Given the description of an element on the screen output the (x, y) to click on. 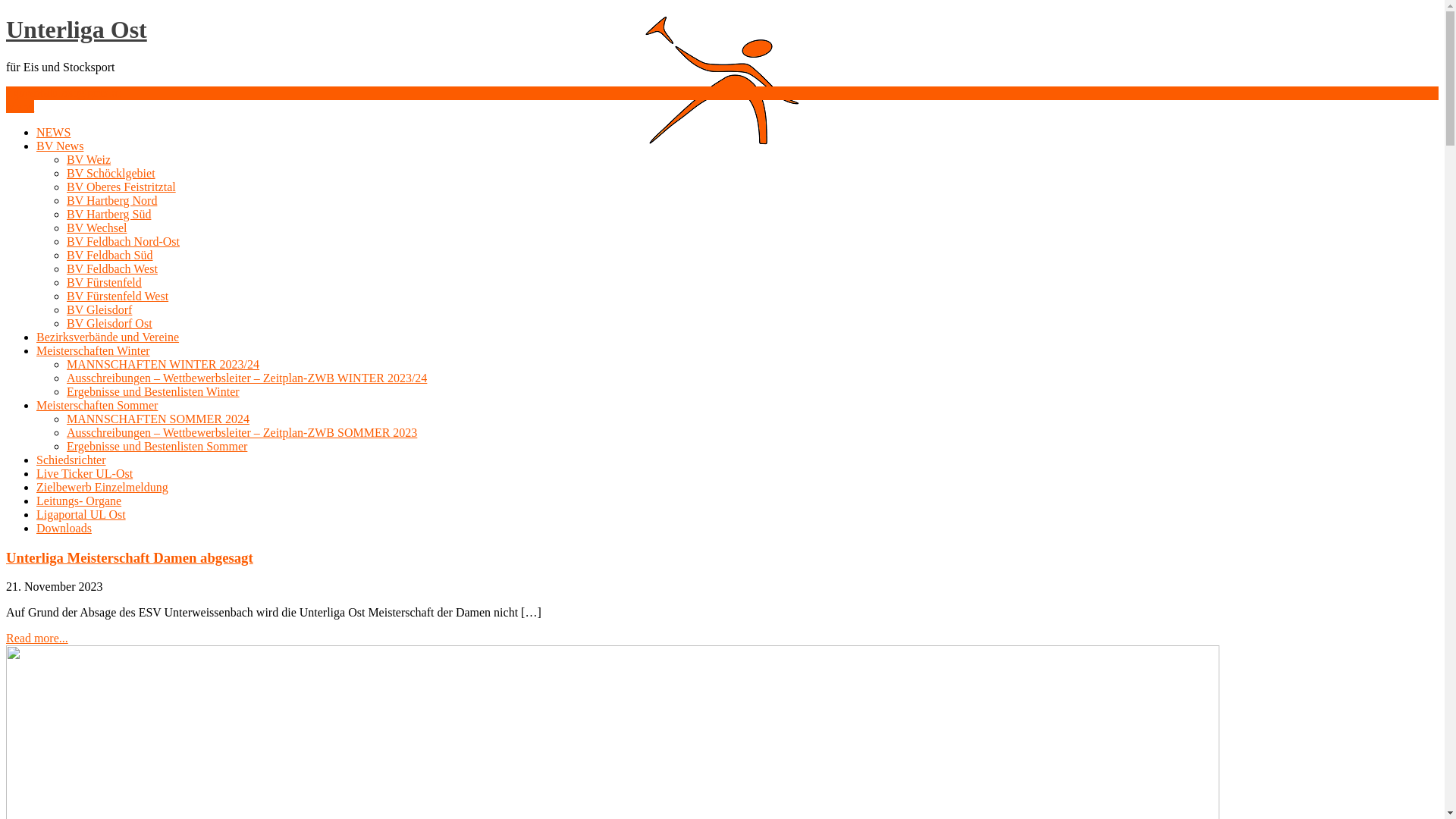
Meisterschaften Sommer Element type: text (96, 404)
Zielbewerb Einzelmeldung Element type: text (102, 486)
BV Feldbach West Element type: text (111, 268)
Meisterschaften Winter Element type: text (93, 350)
ligaportalulost@gmx.at Element type: text (63, 92)
BV Hartberg Nord Element type: text (111, 200)
Schiedsrichter Element type: text (71, 459)
BV Gleisdorf Element type: text (98, 309)
Menu Element type: text (20, 106)
BV Feldbach Nord-Ost Element type: text (122, 241)
Read more... Element type: text (37, 637)
BV Oberes Feistritztal Element type: text (120, 186)
Downloads Element type: text (63, 527)
MANNSCHAFTEN WINTER 2023/24 Element type: text (162, 363)
BV Weiz Element type: text (88, 159)
Live Ticker UL-Ost Element type: text (84, 473)
BV Gleisdorf Ost Element type: text (109, 322)
Unterliga Ost Element type: text (76, 29)
Leitungs- Organe Element type: text (78, 500)
Unterliga Meisterschaft Damen abgesagt Element type: text (129, 557)
Ergebnisse und Bestenlisten Winter Element type: text (152, 391)
MANNSCHAFTEN SOMMER 2024 Element type: text (157, 418)
Ligaportal UL Ost Element type: text (80, 514)
Ergebnisse und Bestenlisten Sommer Element type: text (156, 445)
BV Wechsel Element type: text (96, 227)
BV News Element type: text (59, 145)
Skip to content Element type: text (5, 15)
NEWS Element type: text (53, 131)
